Given the description of an element on the screen output the (x, y) to click on. 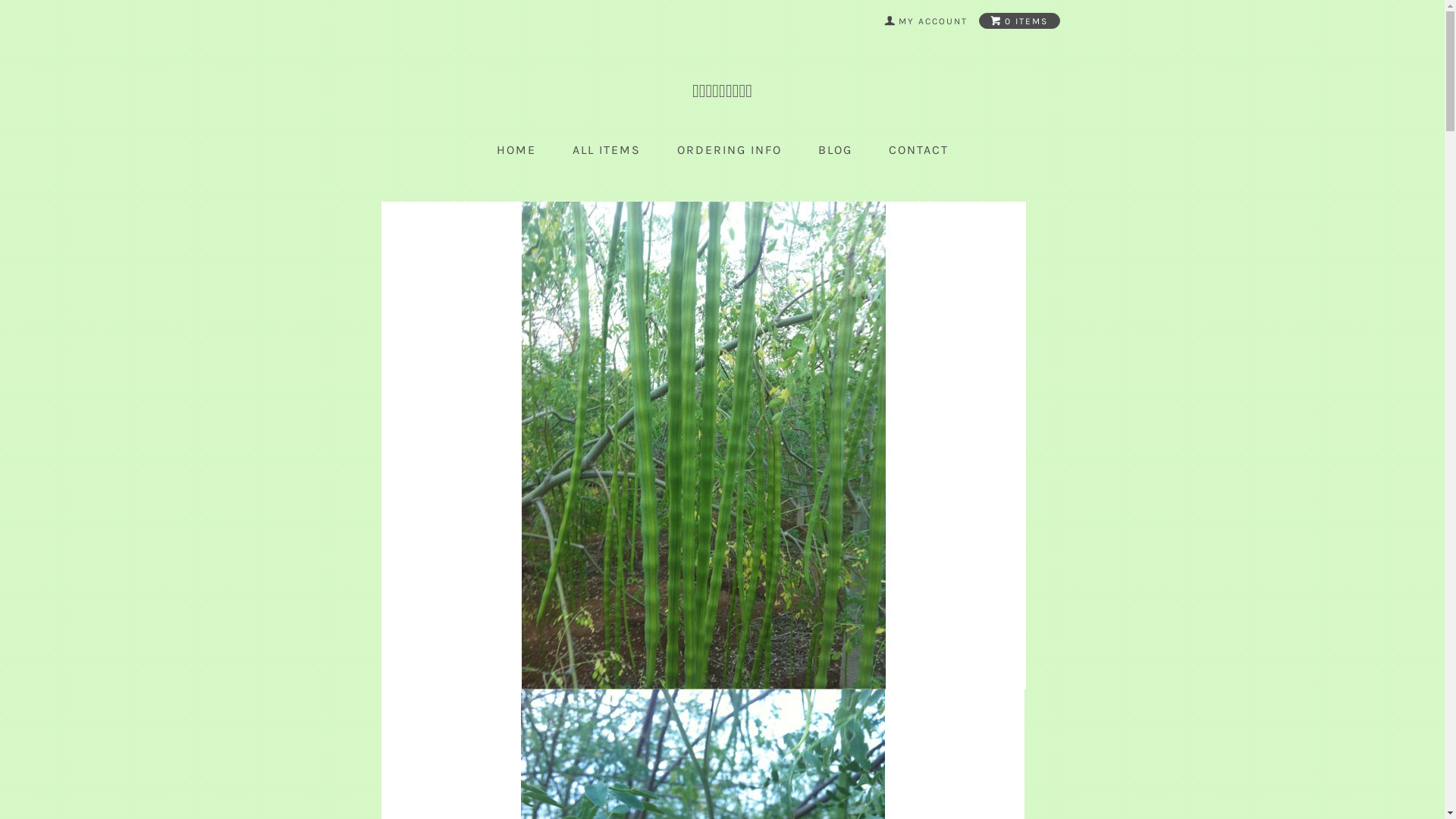
0 ITEMS Element type: text (1018, 20)
BLOG Element type: text (834, 149)
HOME Element type: text (515, 149)
ALL ITEMS Element type: text (605, 149)
CONTACT Element type: text (918, 149)
ORDERING INFO Element type: text (728, 149)
